Given the description of an element on the screen output the (x, y) to click on. 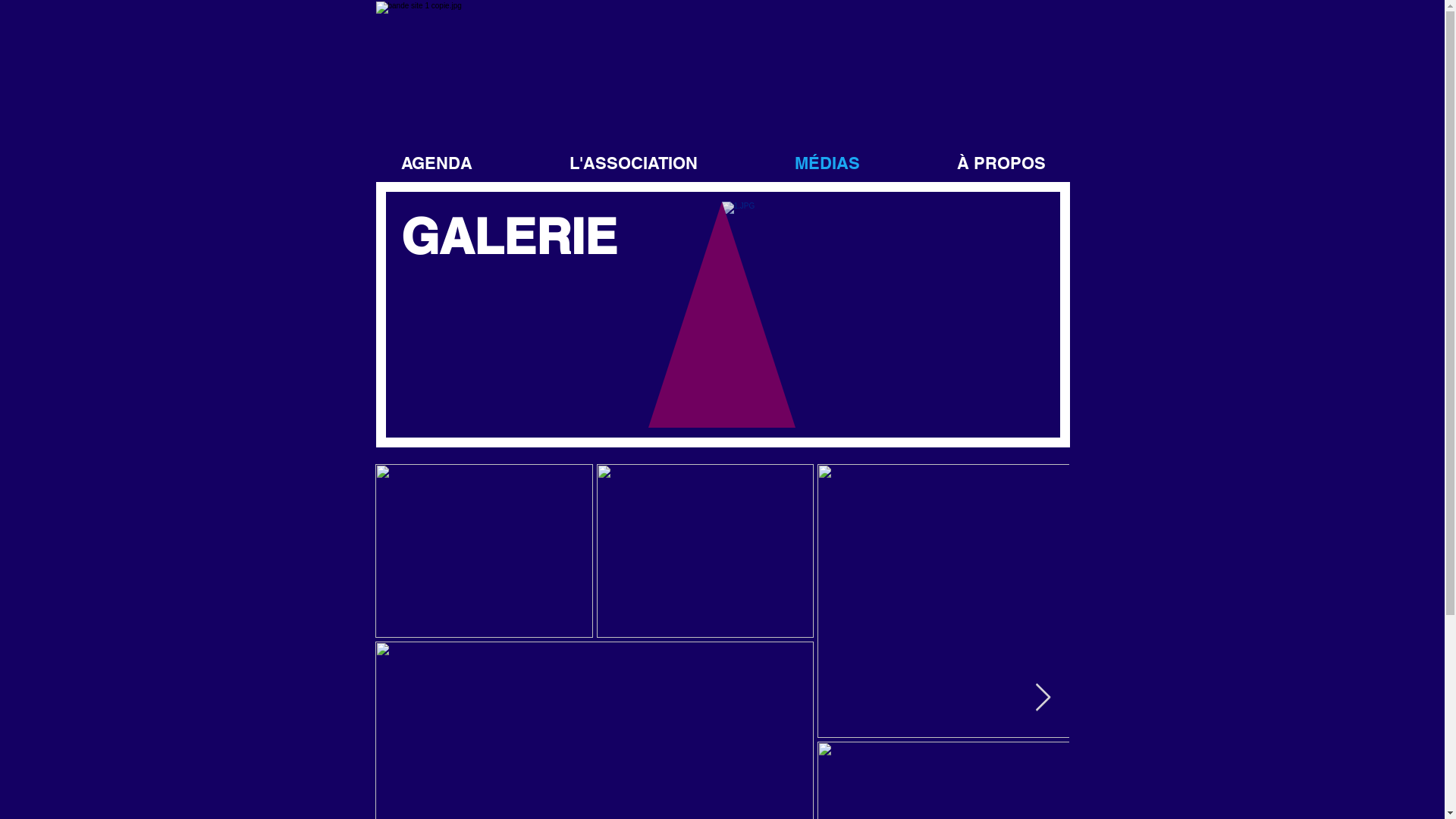
AGENDA Element type: text (435, 163)
L'ASSOCIATION Element type: text (632, 163)
